Given the description of an element on the screen output the (x, y) to click on. 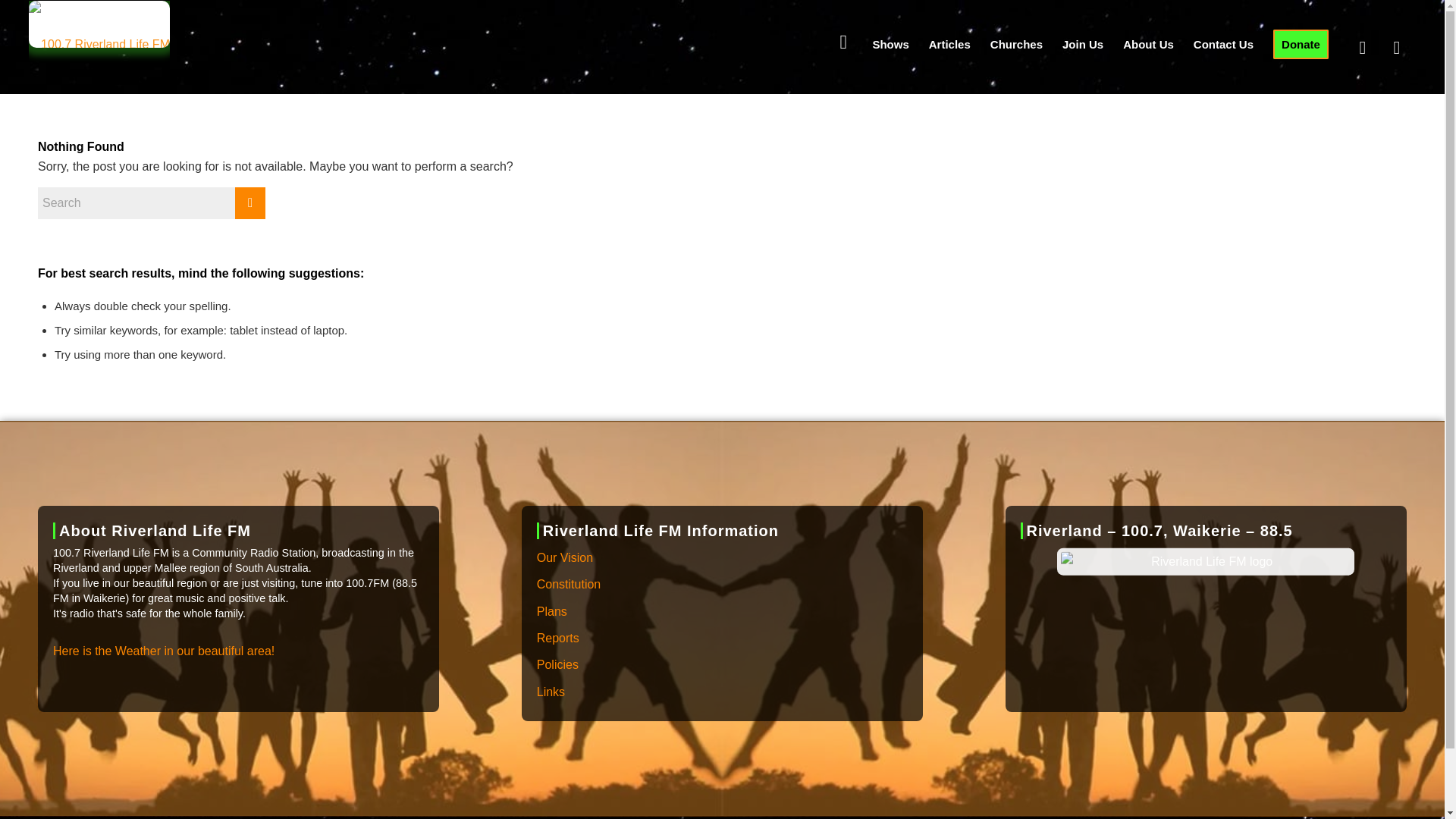
Instagram (1396, 47)
Constitution (722, 584)
Our Vision (722, 558)
Here is the Weather in our beautiful area! (163, 650)
Contact Us (1223, 44)
Facebook (1362, 47)
Plans (722, 611)
